Given the description of an element on the screen output the (x, y) to click on. 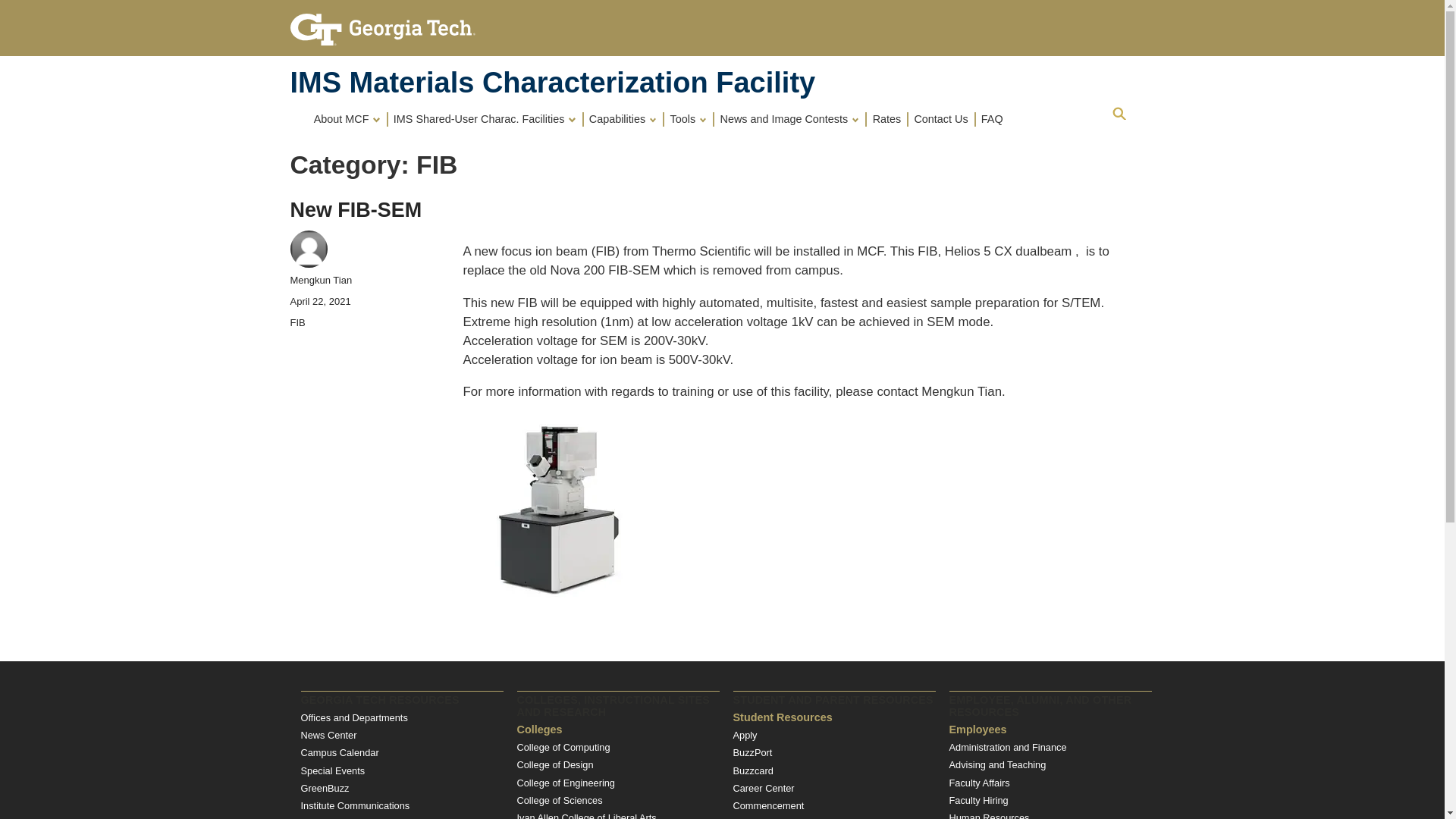
About MCF (347, 119)
Capabilities (624, 119)
Home (552, 82)
IMS Shared-User Charac. Facilities (485, 119)
IMS Materials Characterization Facility (552, 82)
